Given the description of an element on the screen output the (x, y) to click on. 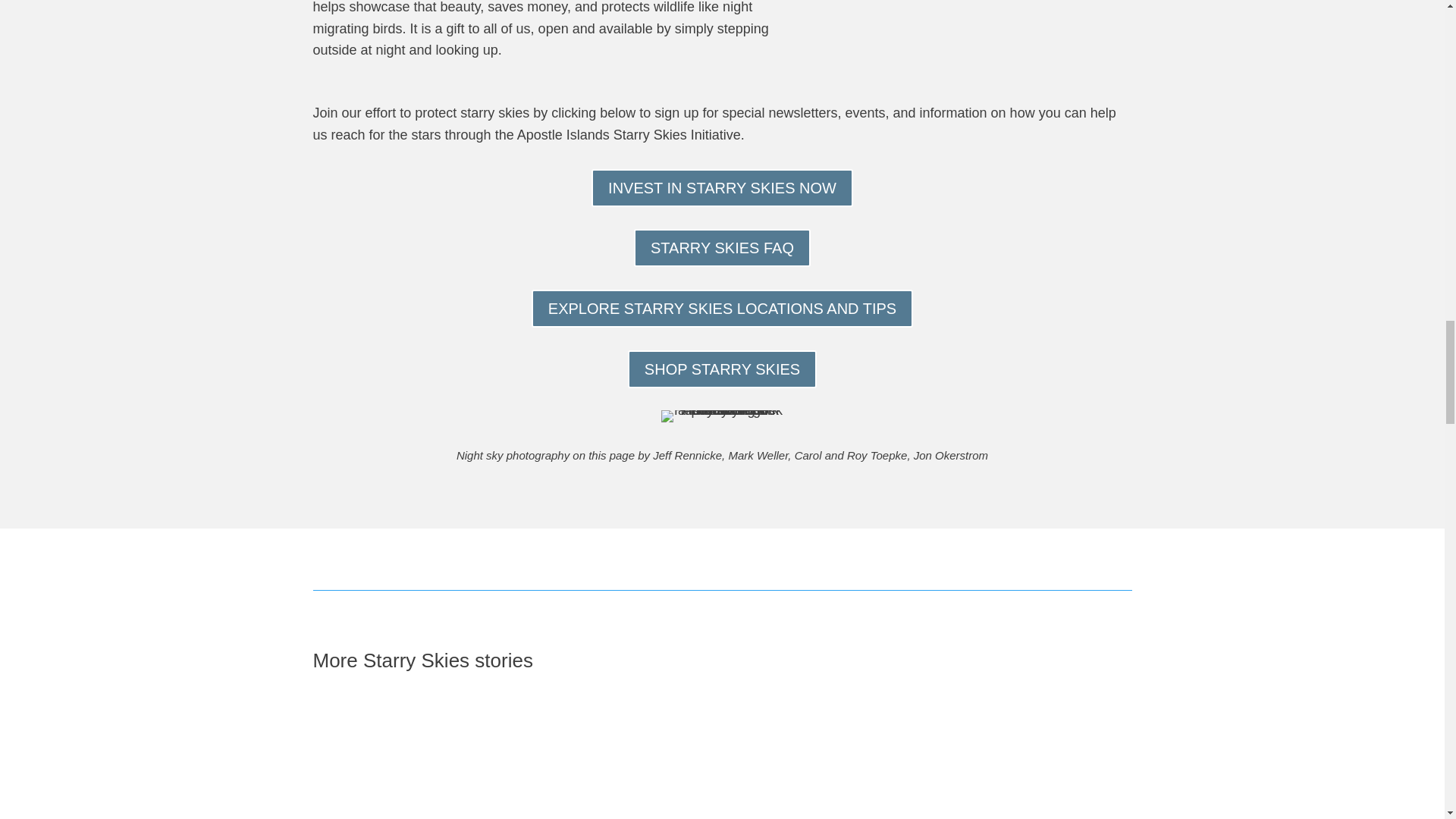
SHOP STARRY SKIES (721, 369)
EXPLORE STARRY SKIES LOCATIONS AND TIPS (721, 308)
INVEST IN STARRY SKIES NOW (722, 187)
STARRY SKIES FAQ (721, 247)
